Given the description of an element on the screen output the (x, y) to click on. 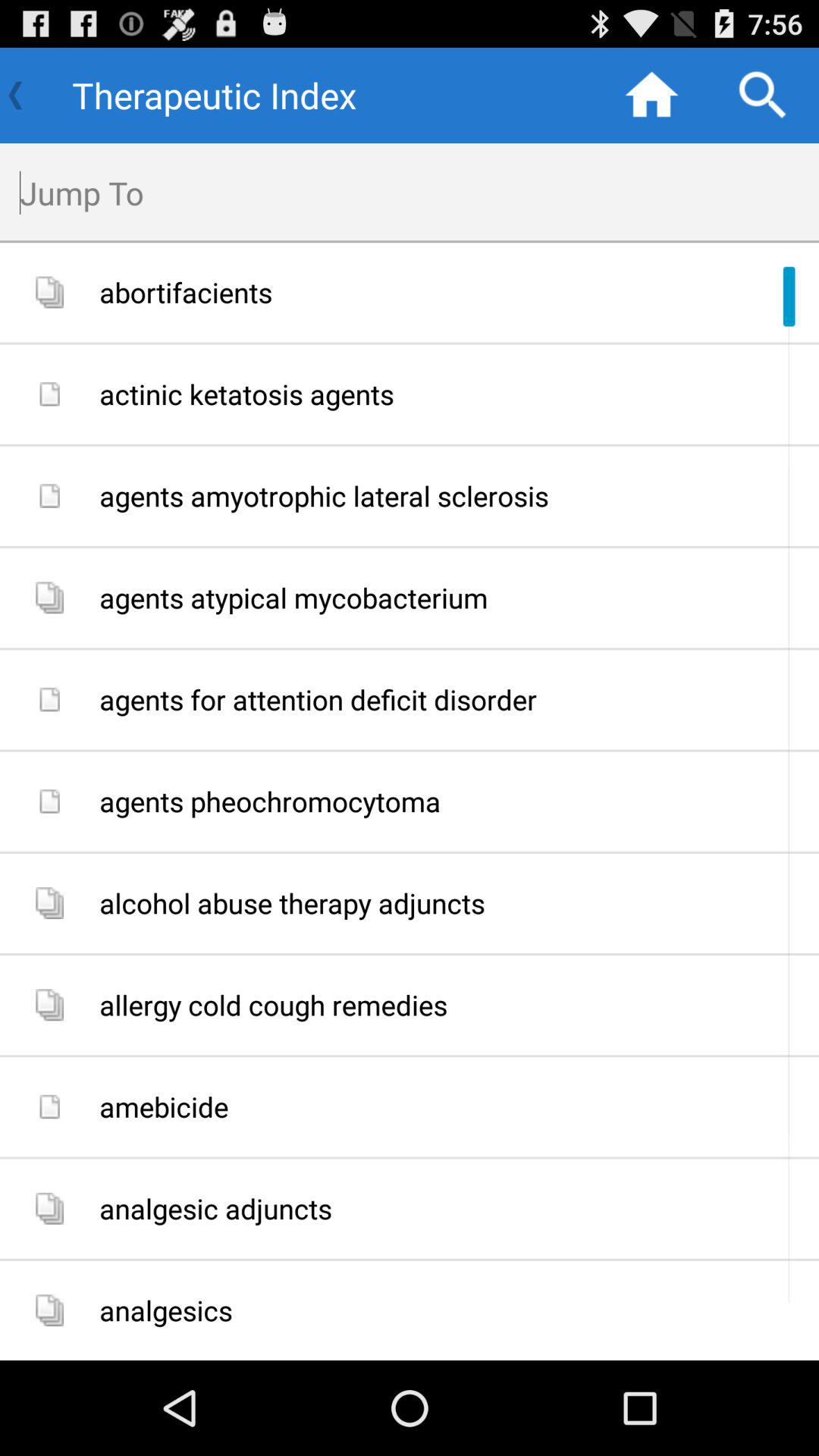
open the item below analgesic adjuncts app (453, 1310)
